Given the description of an element on the screen output the (x, y) to click on. 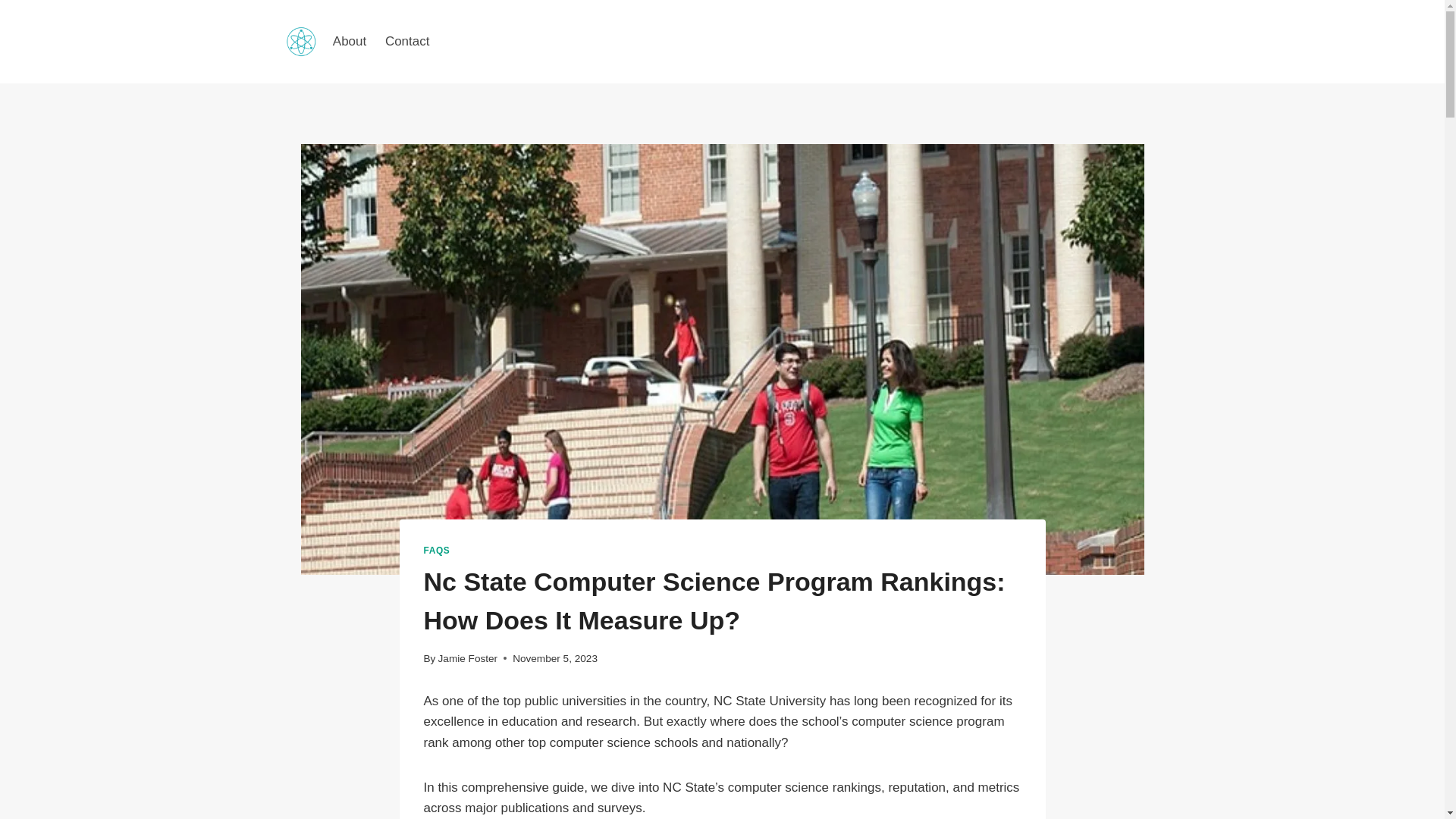
Contact (407, 41)
About (349, 41)
Jamie Foster (467, 657)
FAQS (436, 550)
